Given the description of an element on the screen output the (x, y) to click on. 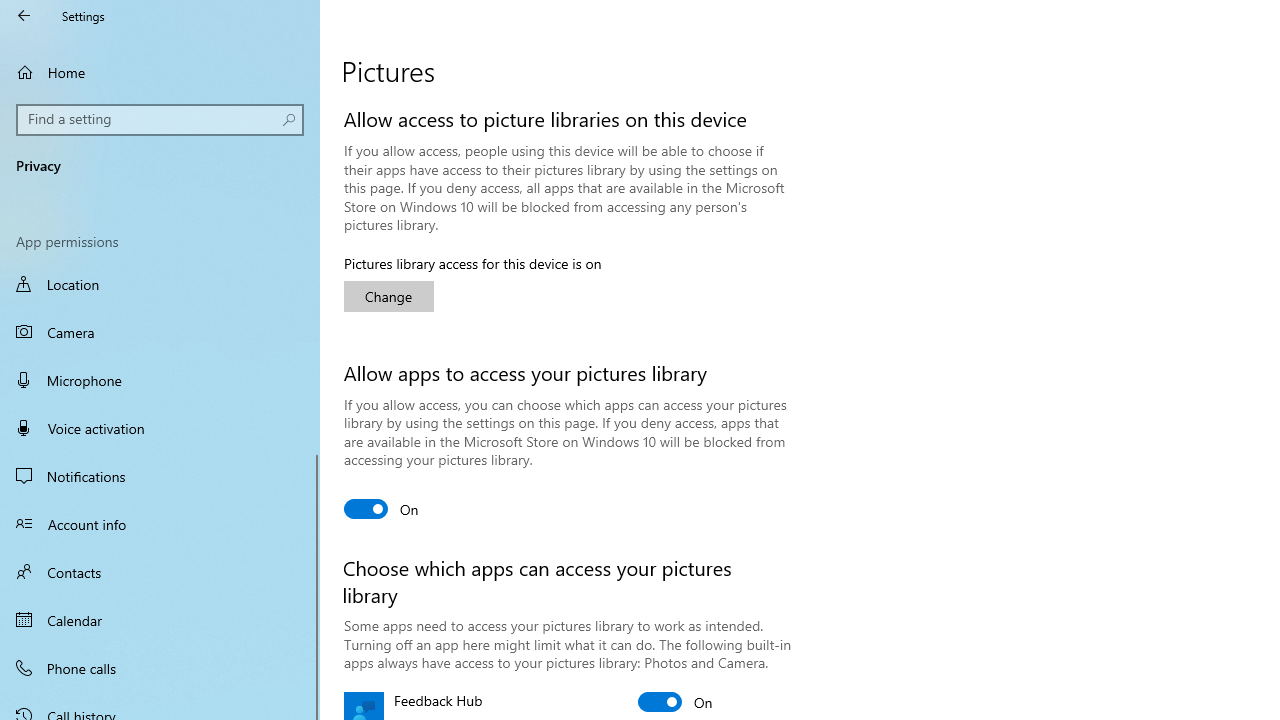
Allow apps to access your pictures library (381, 508)
Phone calls (160, 667)
Microphone (160, 379)
Contacts (160, 571)
Feedback Hub (675, 701)
Calendar (160, 619)
Voice activation (160, 427)
Location (160, 286)
Account info (160, 523)
Camera (160, 331)
Search box, Find a setting (160, 119)
Change (388, 295)
Notifications (160, 475)
